Given the description of an element on the screen output the (x, y) to click on. 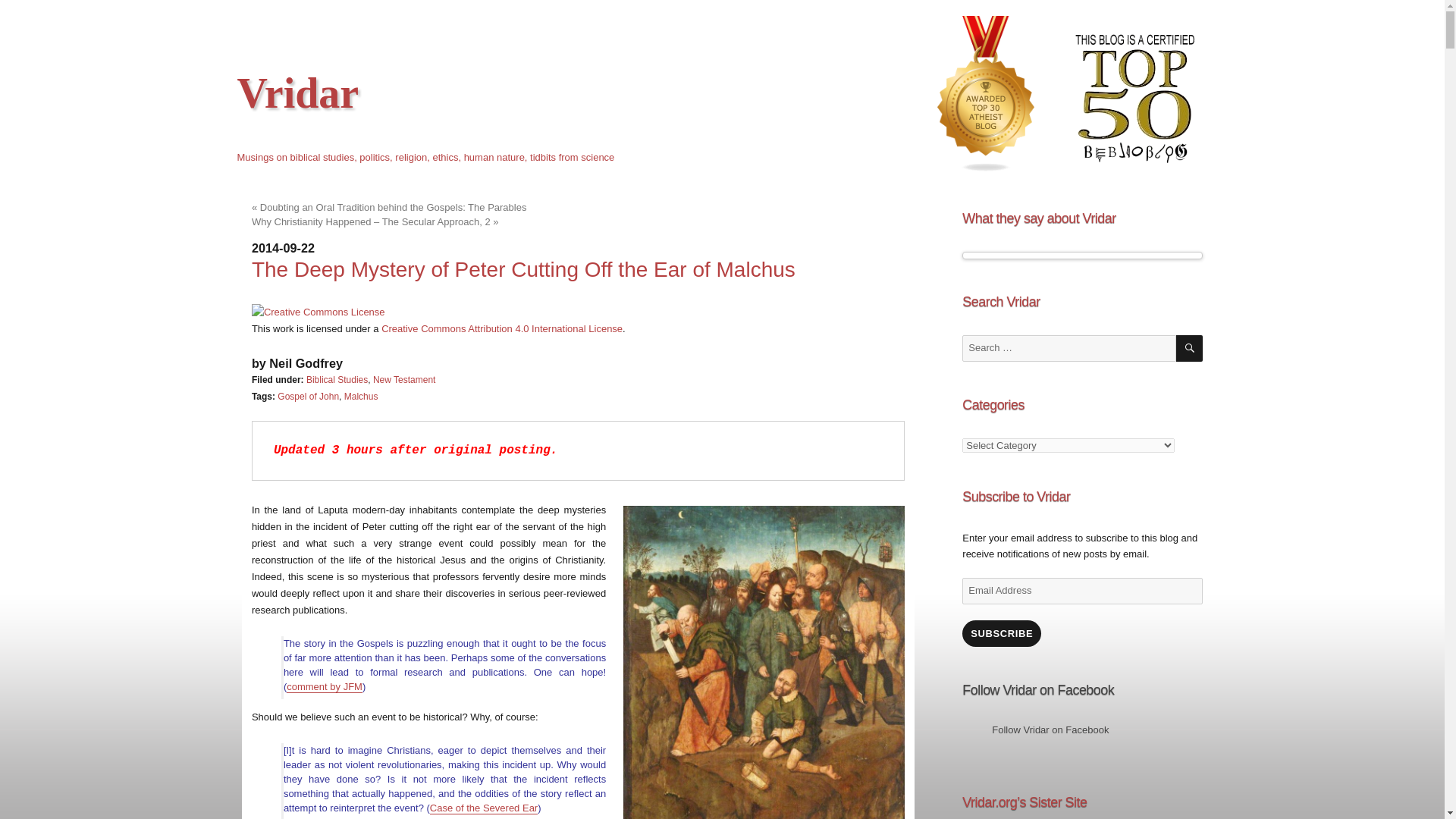
Vridar (296, 93)
Biblical Studies (336, 379)
comment by JFM (324, 686)
Case of the Severed Ear (483, 808)
Malchus (360, 396)
Gospel of John (308, 396)
Creative Commons Attribution 4.0 International License (502, 328)
New Testament (403, 379)
